Given the description of an element on the screen output the (x, y) to click on. 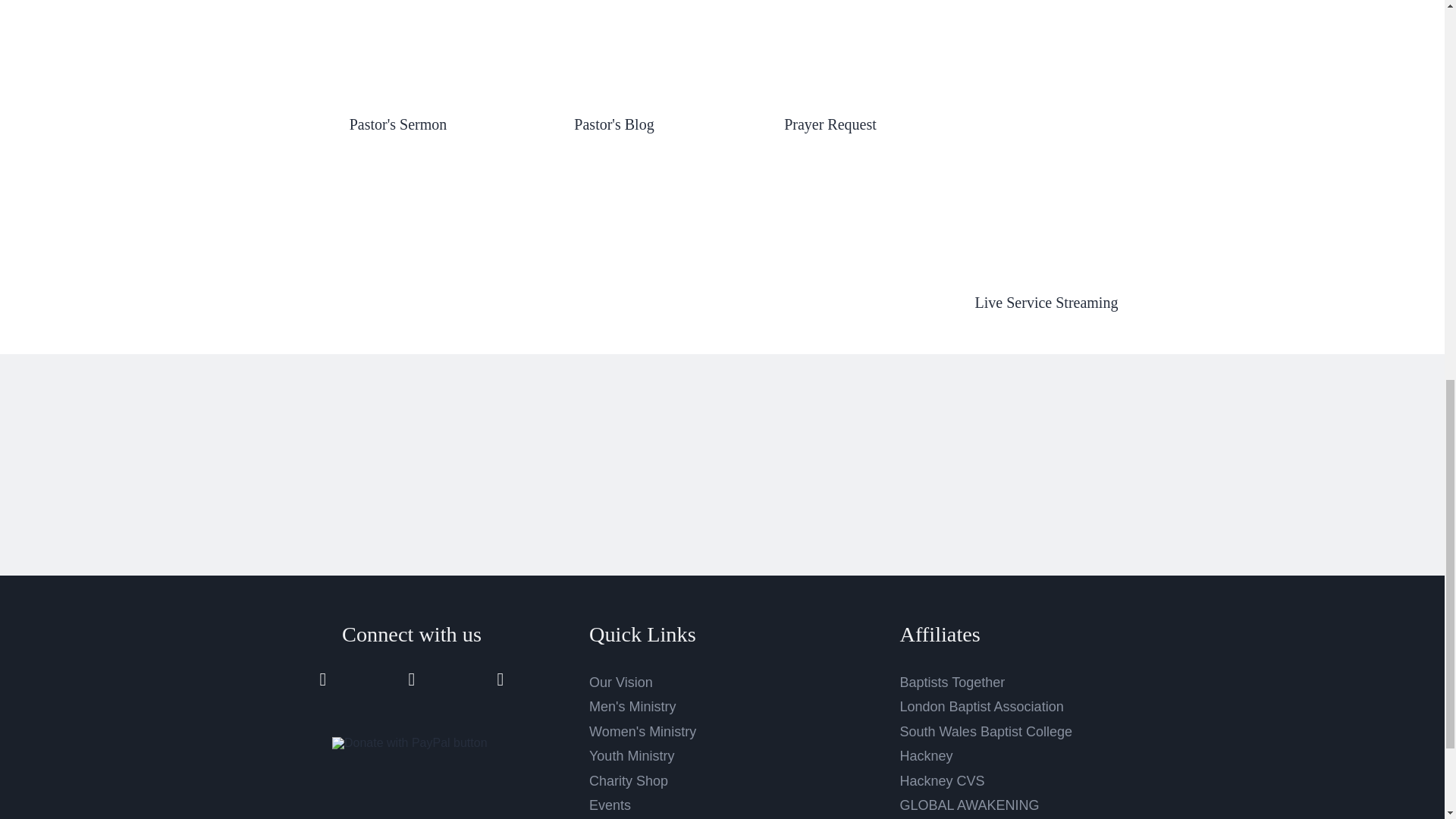
Youth Ministry (631, 755)
Men's Ministry (632, 706)
Live Service Streaming (1046, 302)
PayPal - The safer, easier way to pay online! (409, 743)
Women's Ministry (642, 731)
Our Vision (620, 682)
